Given the description of an element on the screen output the (x, y) to click on. 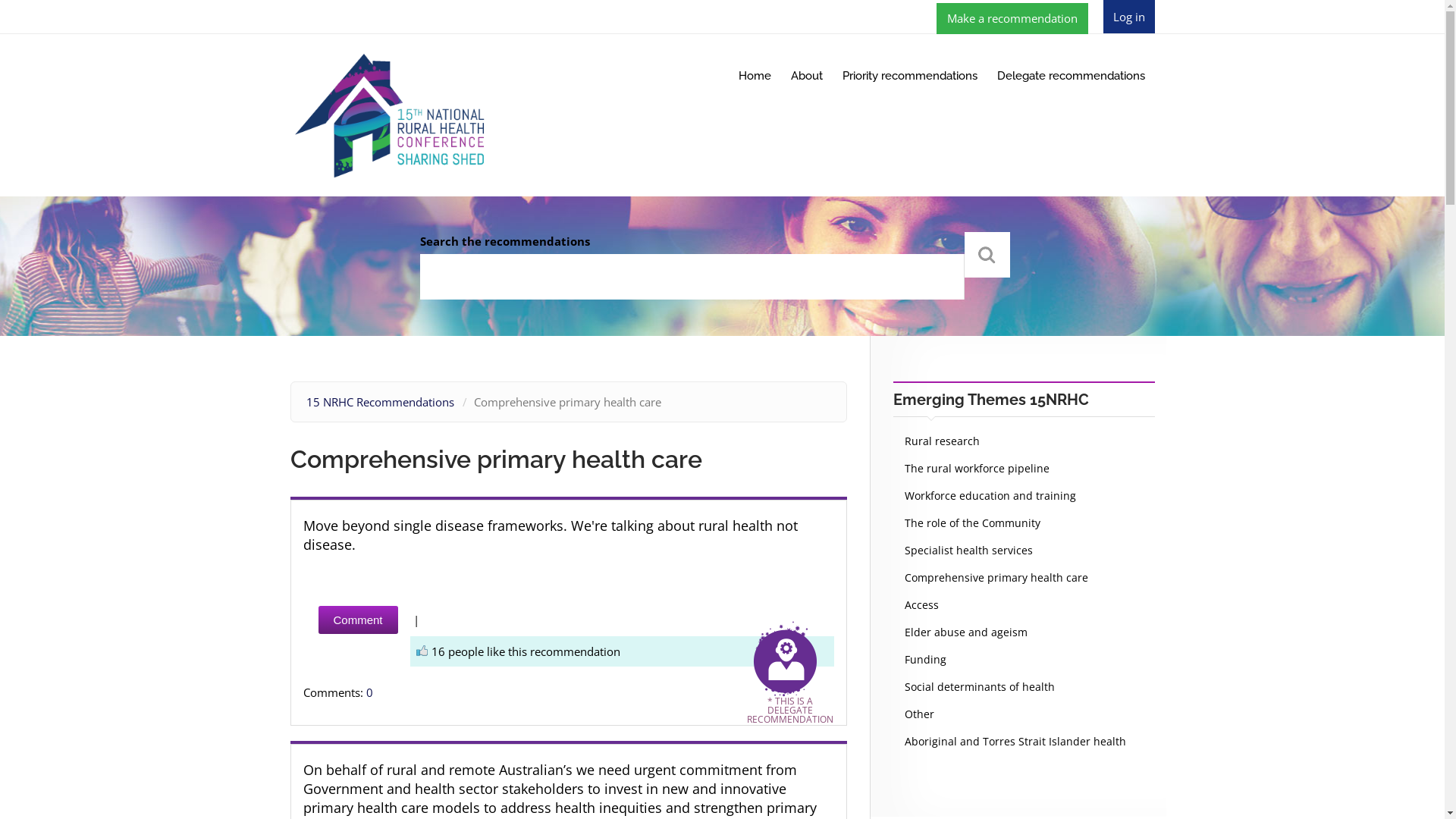
Comment Element type: text (358, 619)
The rural workforce pipeline Element type: text (976, 468)
Make a recommendation Element type: text (1011, 16)
Other Element type: text (919, 714)
Aboriginal and Torres Strait Islander health Element type: text (1015, 741)
Rural research Element type: text (942, 441)
Workforce education and training Element type: text (990, 495)
Funding Element type: text (925, 659)
Log in Element type: text (1129, 16)
Access Element type: text (921, 605)
0 Element type: text (368, 691)
Priority recommendations Element type: text (909, 76)
About Element type: text (806, 76)
Specialist health services Element type: text (968, 550)
15 NRHC Recommendations Element type: text (380, 401)
The role of the Community Element type: text (972, 523)
Elder abuse and ageism Element type: text (965, 632)
Comprehensive primary health care Element type: text (996, 577)
Skip to main content Element type: text (0, 0)
Delegate recommendations Element type: text (1070, 76)
Home Element type: text (754, 76)
Social determinants of health Element type: text (979, 686)
Home Element type: hover (389, 113)
Apply Element type: text (987, 254)
